Given the description of an element on the screen output the (x, y) to click on. 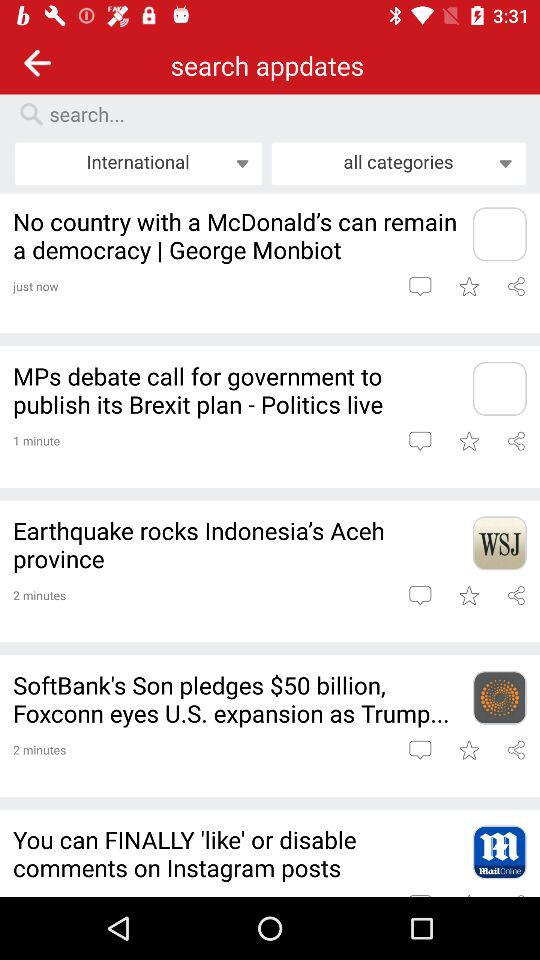
post comment (419, 440)
